Given the description of an element on the screen output the (x, y) to click on. 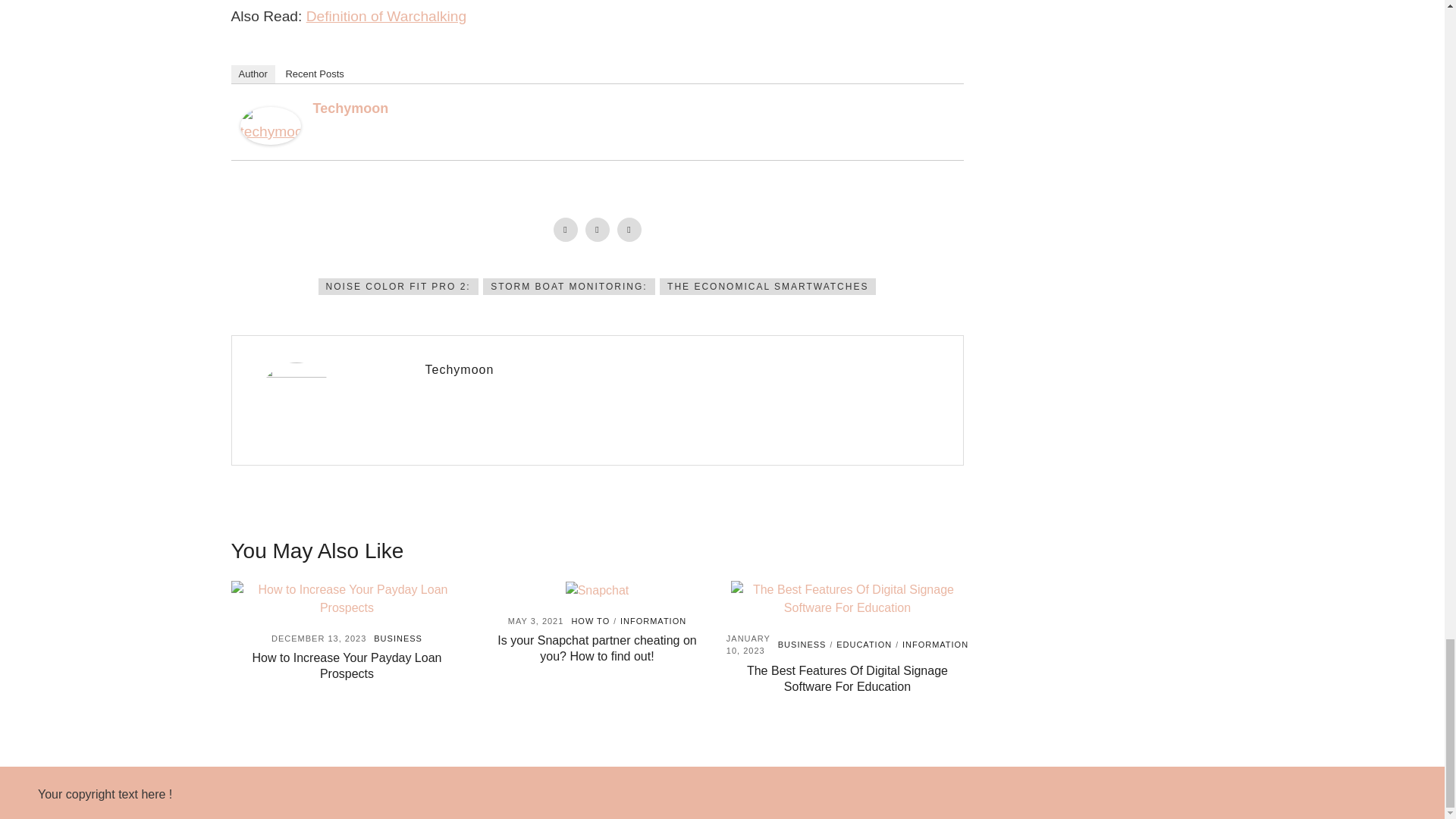
techymoon (269, 124)
Definition of Warchalking (386, 16)
THE ECONOMICAL SMARTWATCHES (767, 286)
Recent Posts (314, 74)
Techymoon (350, 108)
BUSINESS (398, 637)
How to Increase Your Payday Loan Prospects (346, 665)
Author (252, 74)
NOISE COLOR FIT PRO 2: (398, 286)
STORM BOAT MONITORING: (568, 286)
